Given the description of an element on the screen output the (x, y) to click on. 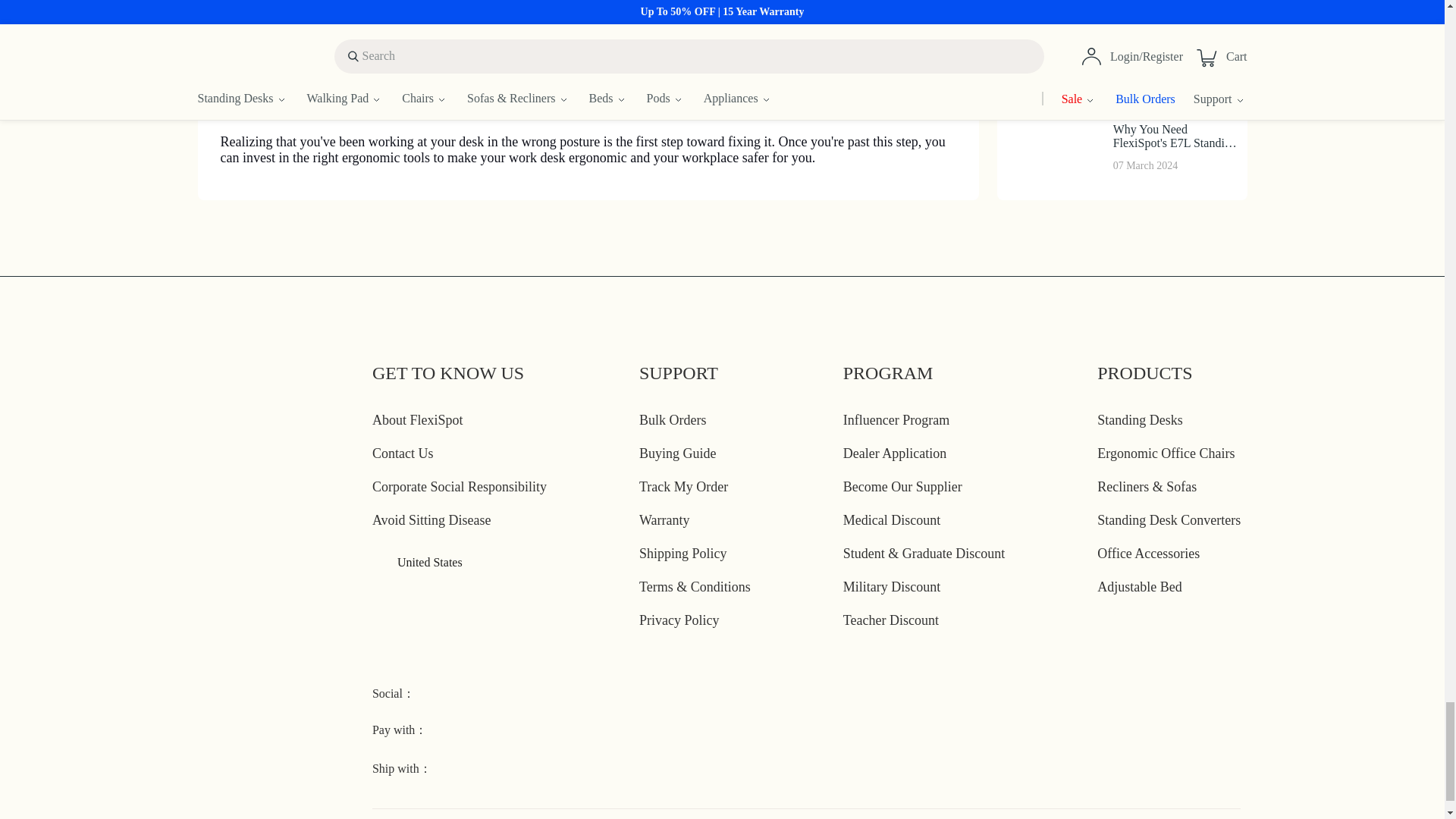
Bulk Orders (672, 419)
Avoid Sitting Disease (432, 519)
Contact Us (402, 453)
About FlexiSpot (417, 419)
Corporate Social Responsibility (459, 486)
Buying Guide (677, 453)
